Given the description of an element on the screen output the (x, y) to click on. 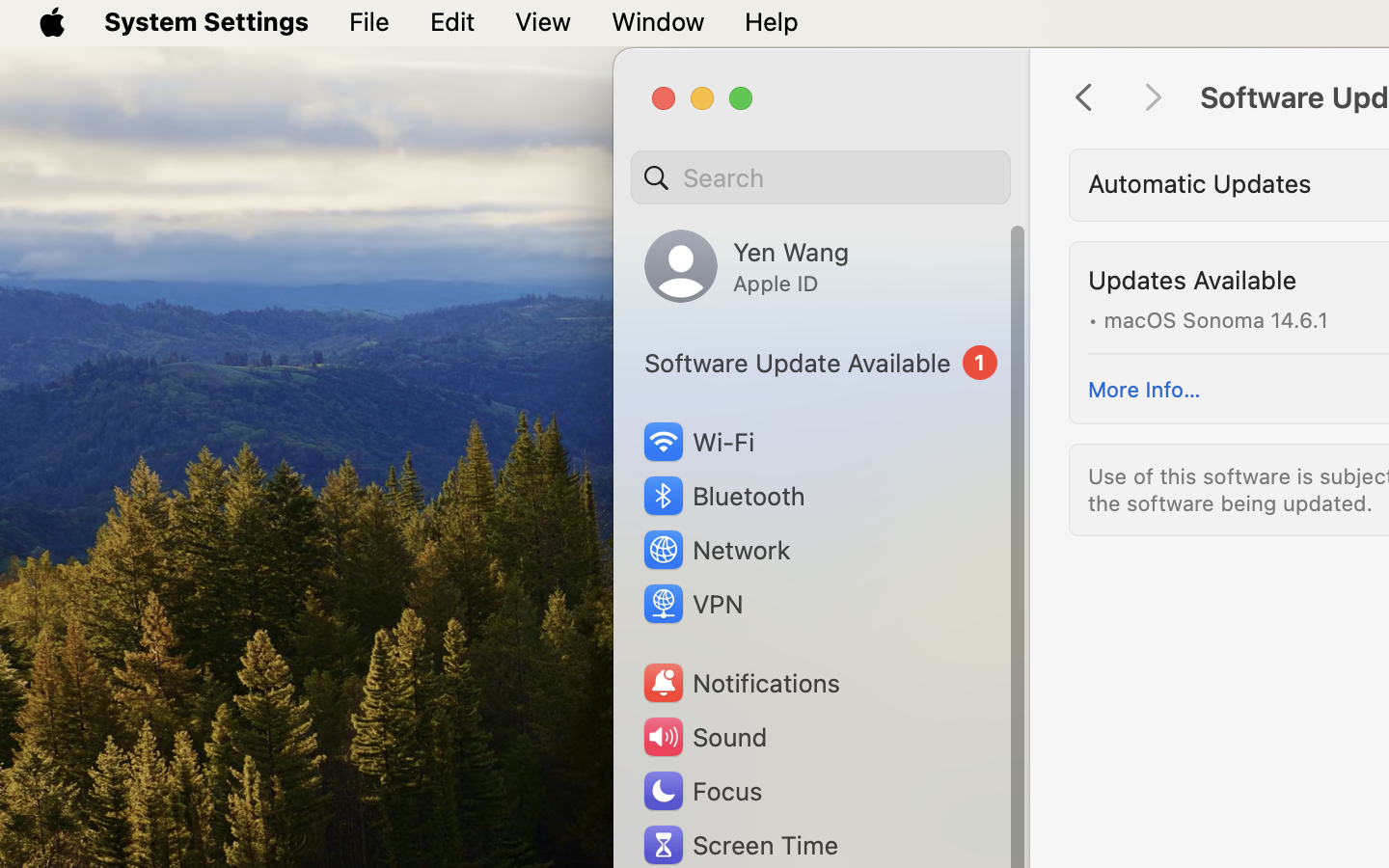
VPN Element type: AXStaticText (691, 603)
1 Element type: AXStaticText (820, 362)
Notifications Element type: AXStaticText (740, 682)
